Given the description of an element on the screen output the (x, y) to click on. 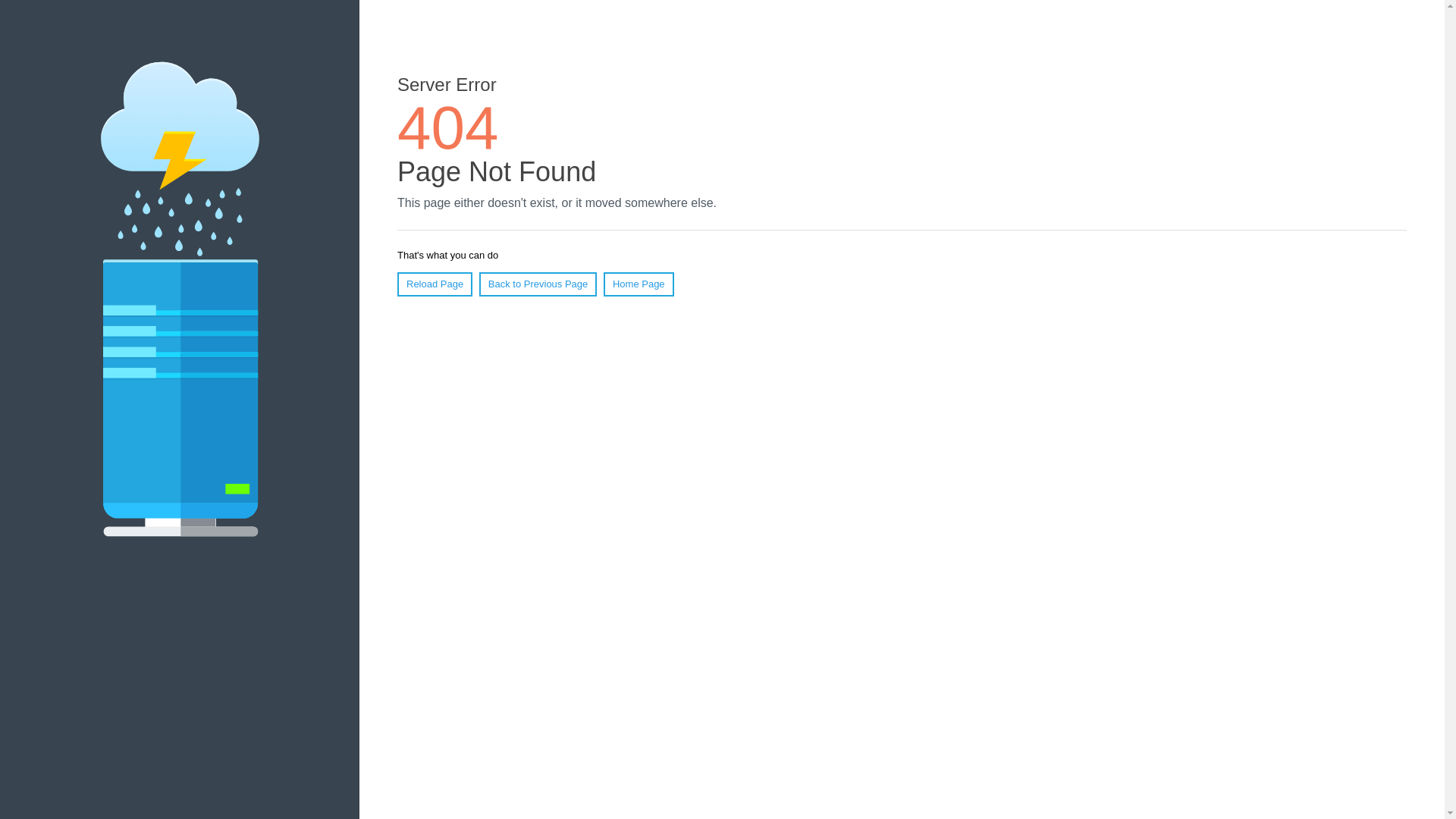
Reload Page Element type: text (434, 284)
Back to Previous Page Element type: text (538, 284)
Home Page Element type: text (638, 284)
